Given the description of an element on the screen output the (x, y) to click on. 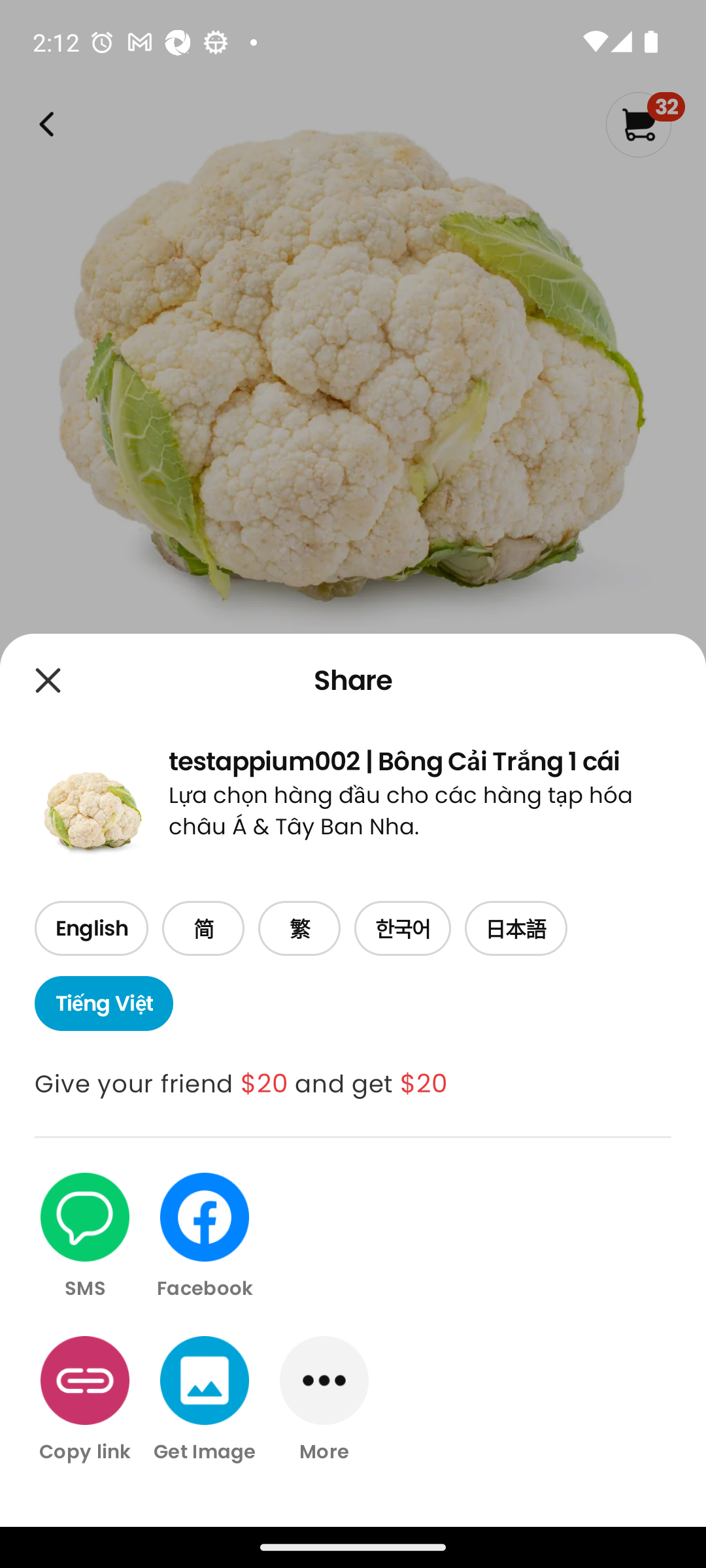
English (91, 928)
简 (203, 928)
繁 (299, 928)
한국어 (402, 928)
日本語 (515, 928)
Tiếng Việt (103, 1003)
SMS (85, 1236)
Facebook (204, 1236)
Copy link (85, 1399)
Get Image (204, 1399)
More (324, 1399)
